Given the description of an element on the screen output the (x, y) to click on. 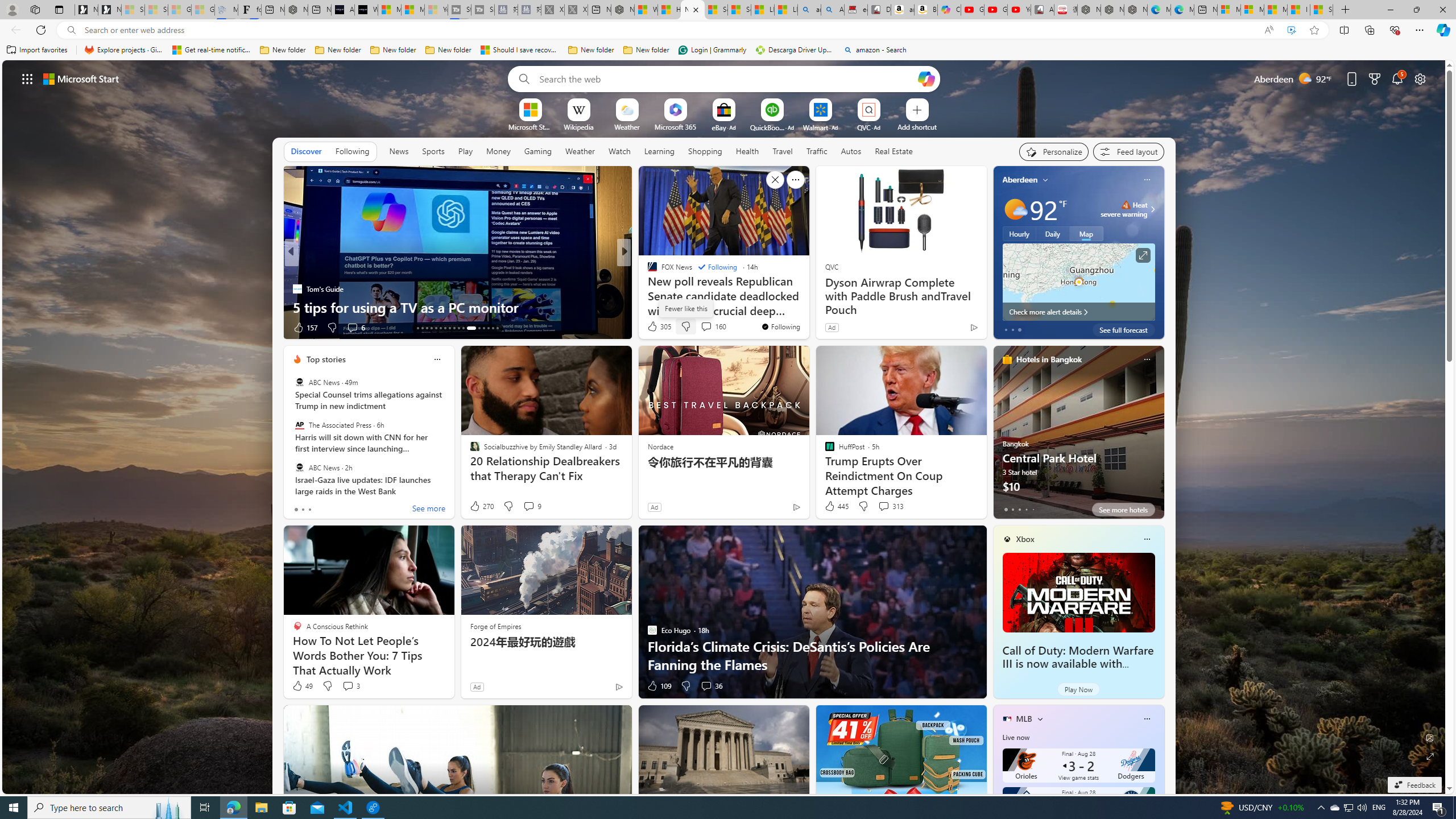
tab-1 (1012, 509)
Class: weather-arrow-glyph (1152, 208)
Wildlife - MSN (645, 9)
View comments 36 Comment (710, 685)
tab-4 (1032, 509)
See more hotels (1123, 509)
Xbox (1025, 538)
amazon - Search (875, 49)
AutomationID: waffle (27, 78)
AutomationID: tab-21 (454, 328)
Weather (580, 151)
AutomationID: tab-43 (497, 328)
Ad (476, 686)
Should I save recovered Word documents? - Microsoft Support (519, 49)
